Given the description of an element on the screen output the (x, y) to click on. 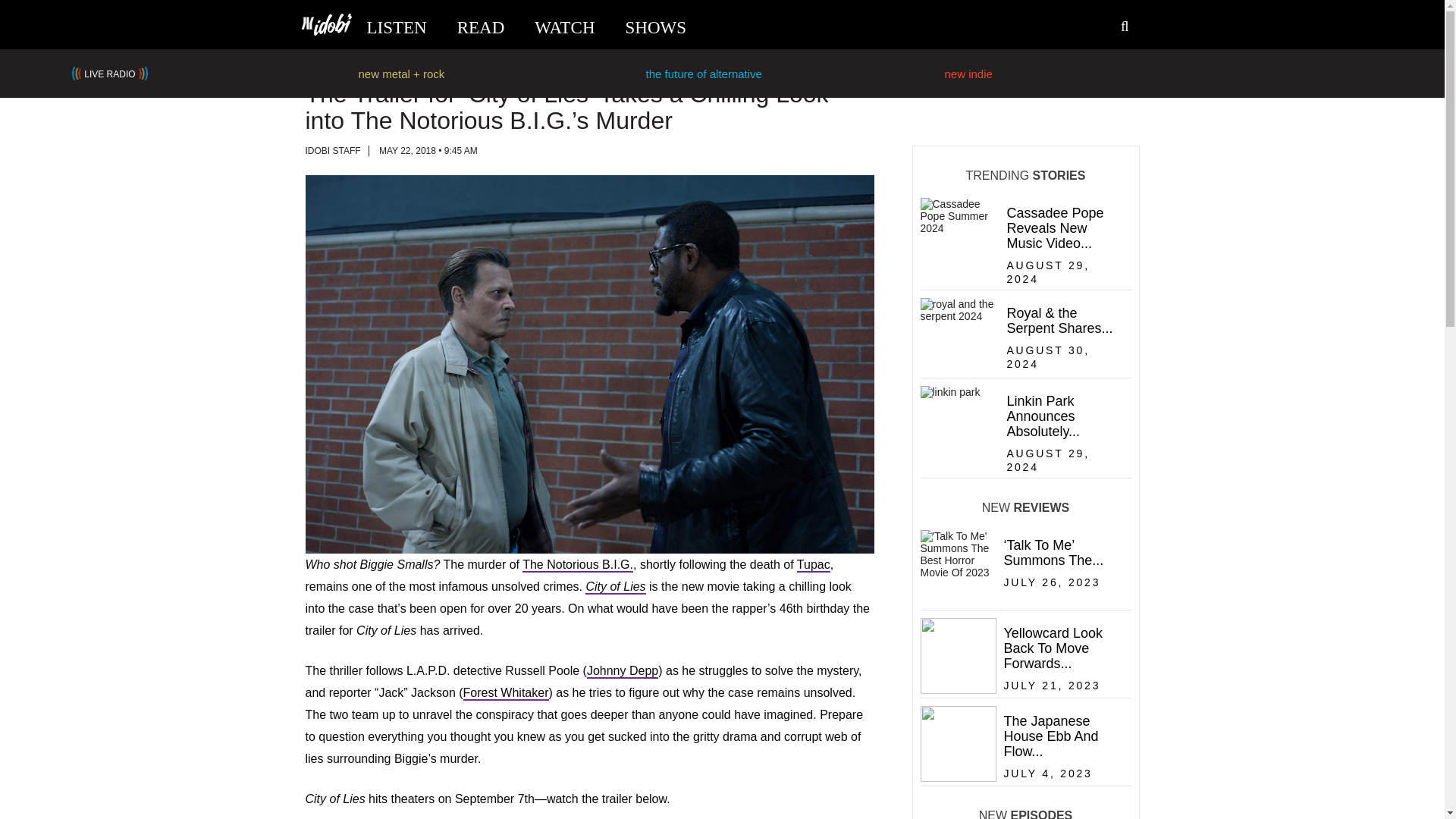
Tupac (812, 564)
The Notorious B.I.G. (577, 564)
idobi Staff (331, 150)
LISTEN (396, 27)
READ (481, 27)
City of Lies (615, 586)
WATCH (564, 27)
Johnny Depp (622, 671)
SHOWS (656, 27)
Forest Whitaker (505, 693)
